Given the description of an element on the screen output the (x, y) to click on. 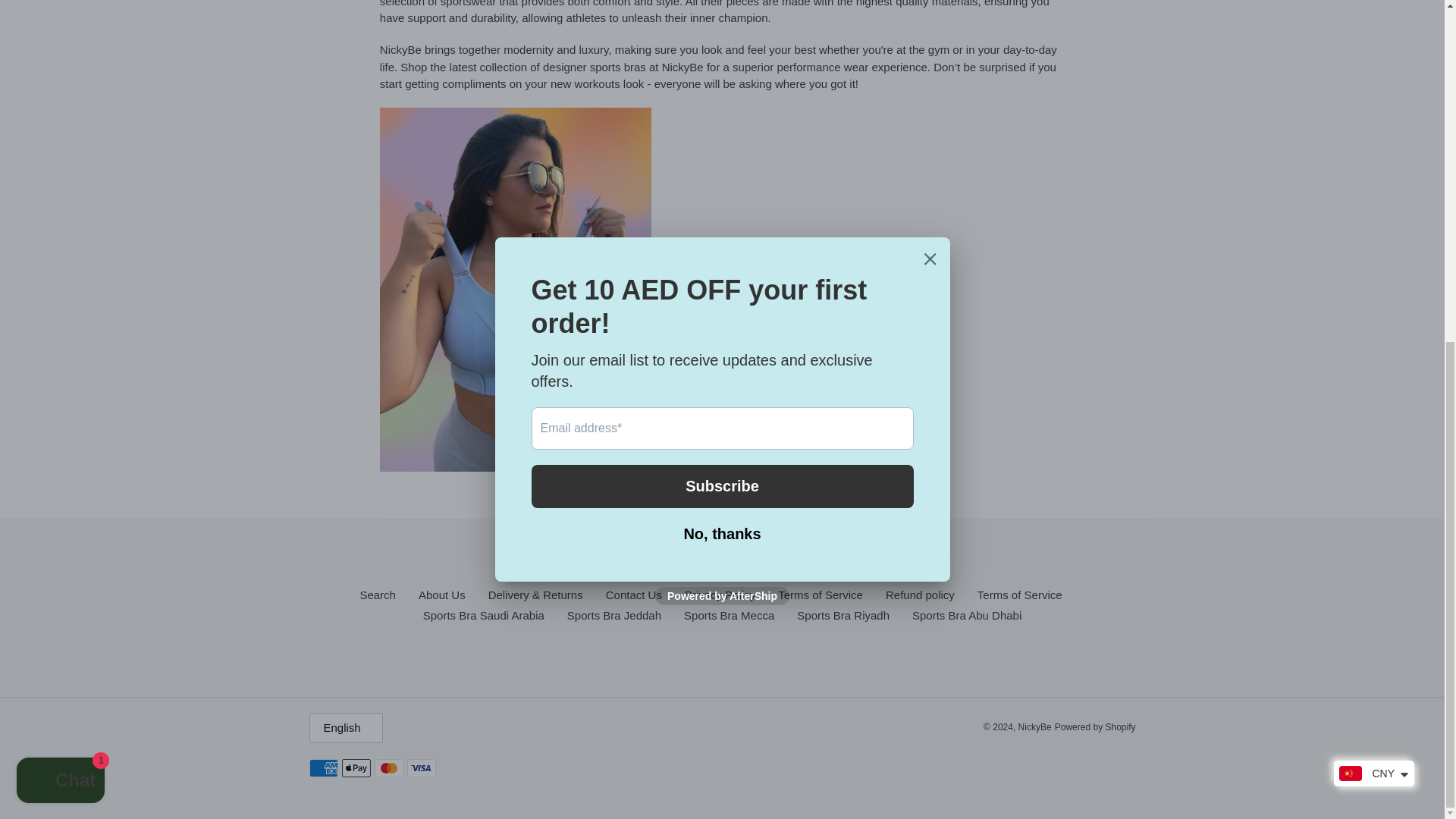
Sports Bra Saudi Arabia (483, 615)
English (345, 727)
Terms of Service (1019, 594)
Privacy Policy (719, 594)
Sports Bra Abu Dhabi (967, 615)
NickyBe (1034, 726)
Shopify online store chat (60, 201)
Search (377, 594)
About Us (442, 594)
Terms of Service (820, 594)
Sports Bra Mecca (729, 615)
Powered by Shopify (1094, 726)
Sports Bra Riyadh (842, 615)
Sports Bra Jeddah (614, 615)
Contact Us (633, 594)
